Given the description of an element on the screen output the (x, y) to click on. 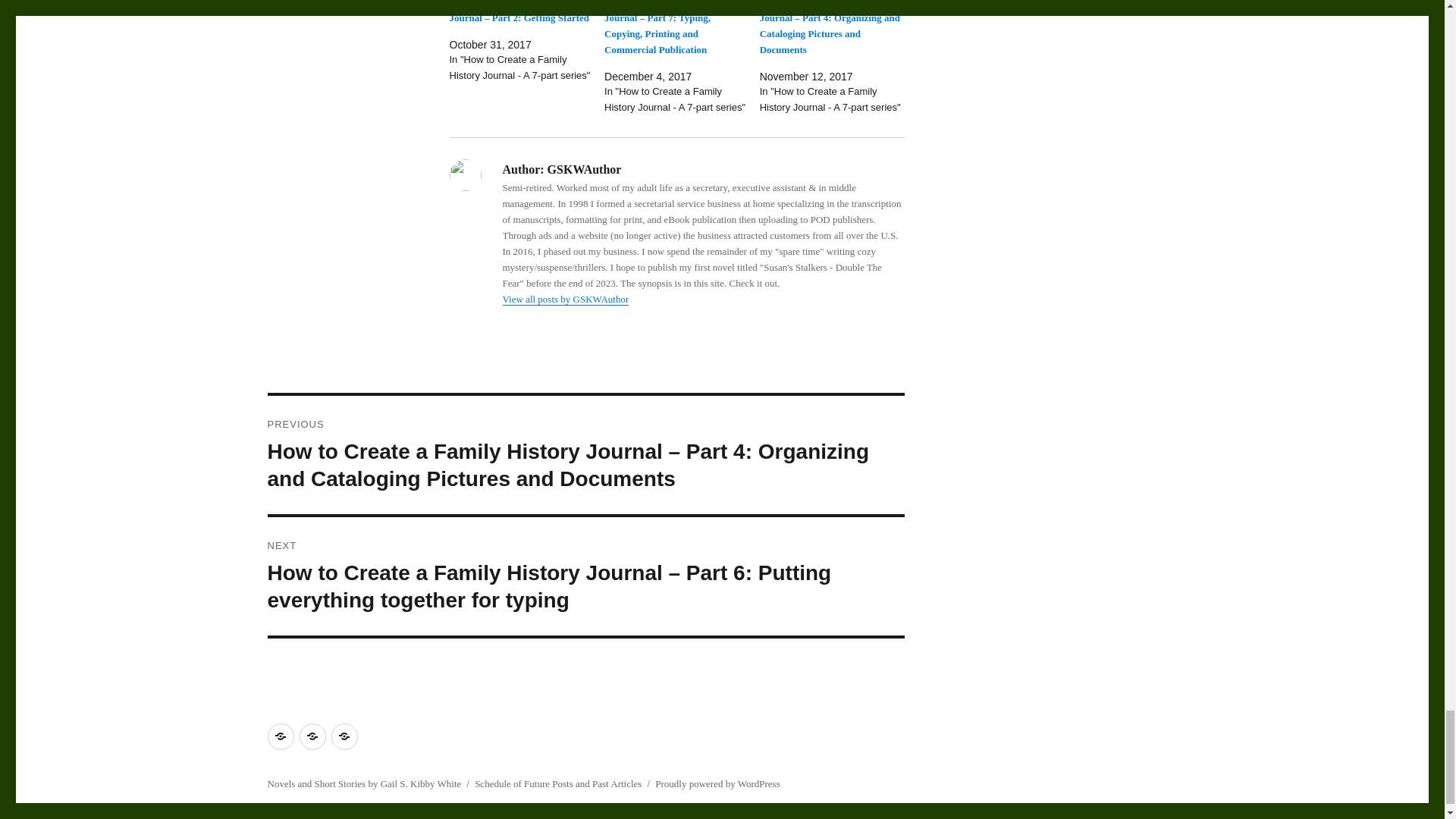
View all posts by GSKWAuthor (565, 298)
